Given the description of an element on the screen output the (x, y) to click on. 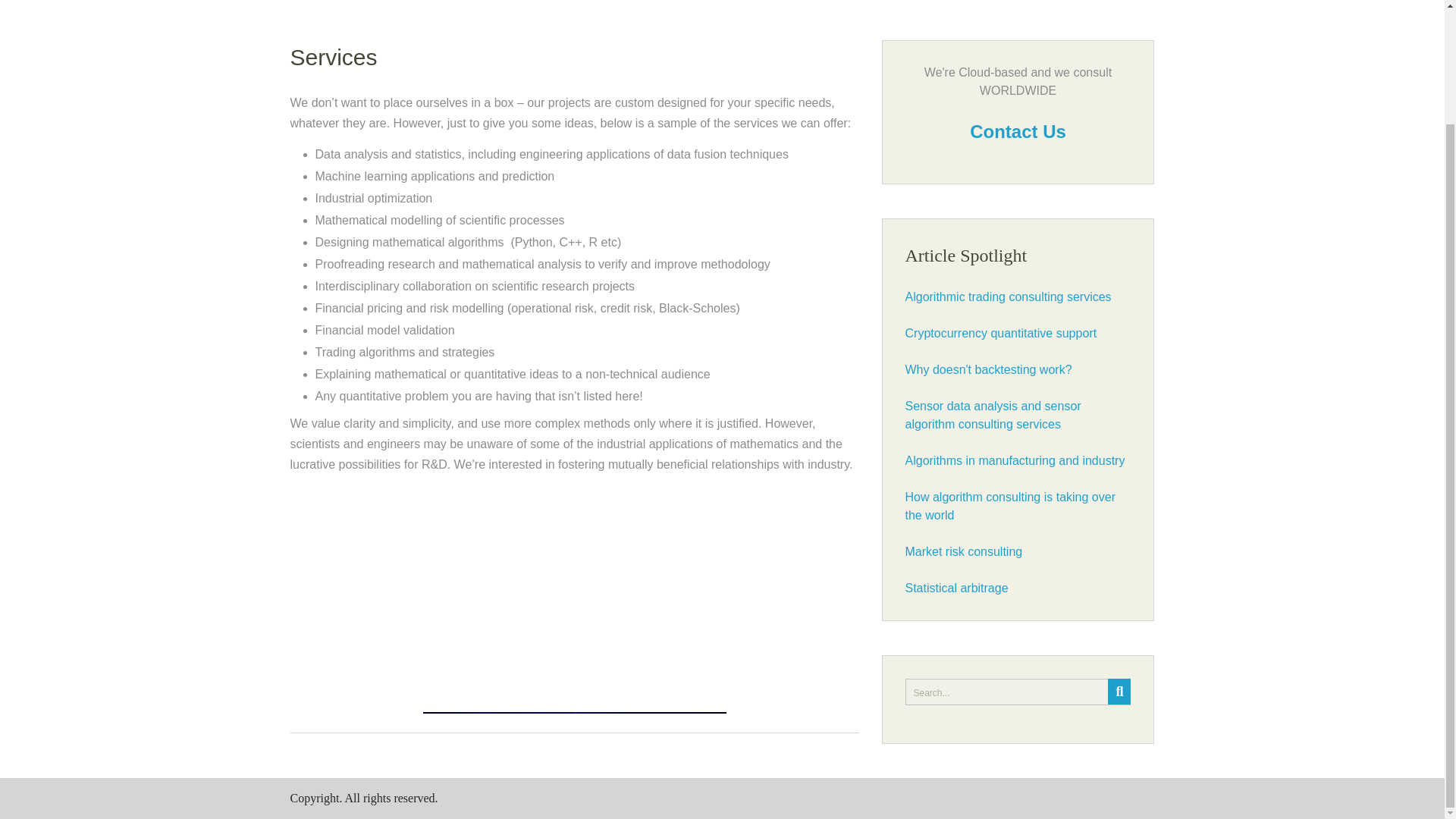
Statistical arbitrage (957, 587)
Contact Us (1017, 131)
Algorithms in manufacturing and industry (1015, 460)
Cryptocurrency quantitative support (1001, 332)
Why doesn't backtesting work? (988, 369)
Market risk consulting (964, 551)
How algorithm consulting is taking over the world (1010, 505)
Algorithmic trading consulting services (1008, 296)
